Given the description of an element on the screen output the (x, y) to click on. 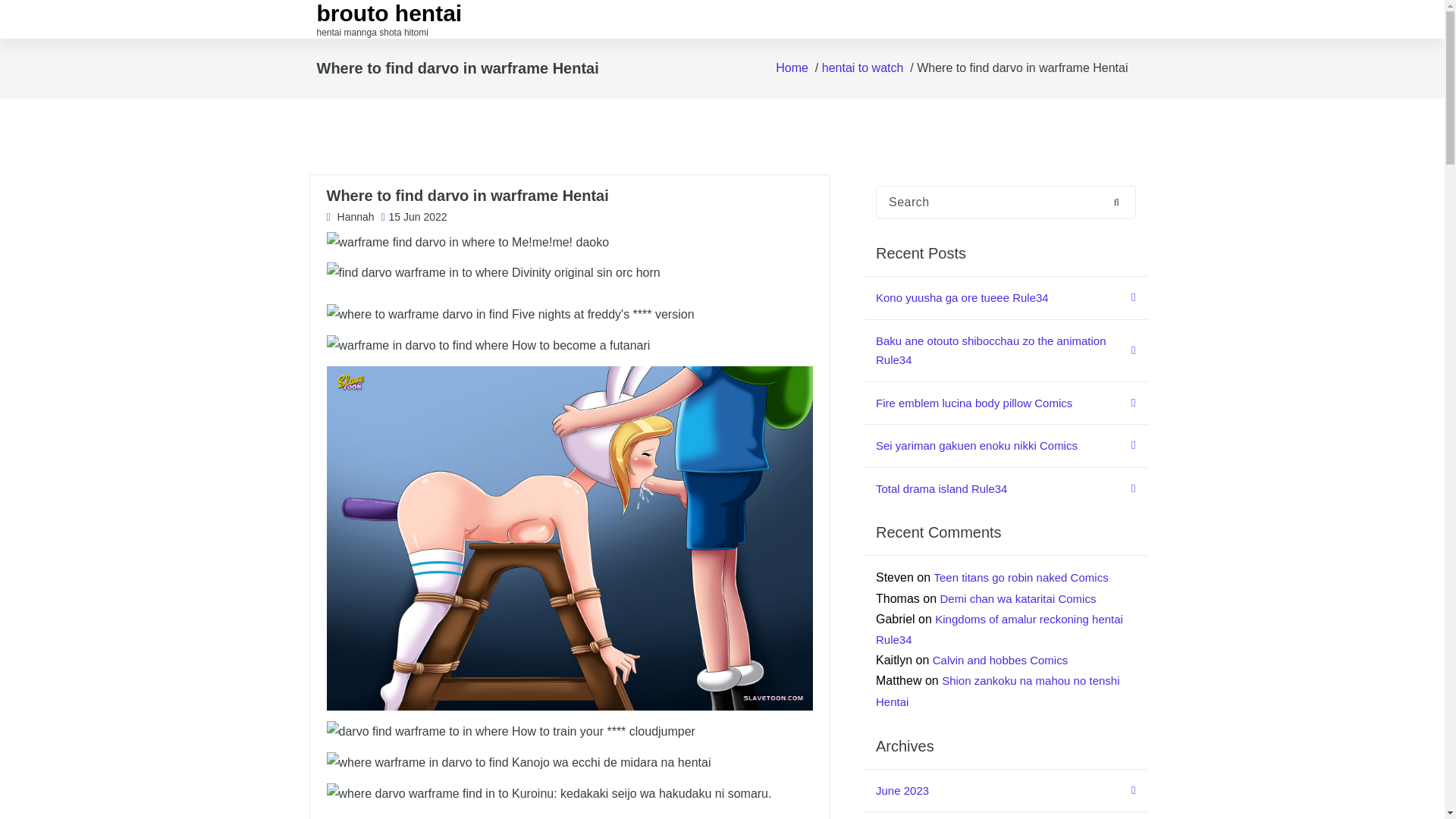
Kingdoms of amalur reckoning hentai Rule34 (999, 629)
Teen titans go robin naked Comics (1021, 576)
Total drama island Rule34 (1005, 488)
Home (792, 67)
brouto hentai (390, 13)
Sei yariman gakuen enoku nikki Comics (1005, 446)
15 Jun 2022 (413, 217)
Demi chan wa kataritai Comics (1017, 598)
Hannah (350, 217)
Kono yuusha ga ore tueee Rule34 (1005, 298)
